Given the description of an element on the screen output the (x, y) to click on. 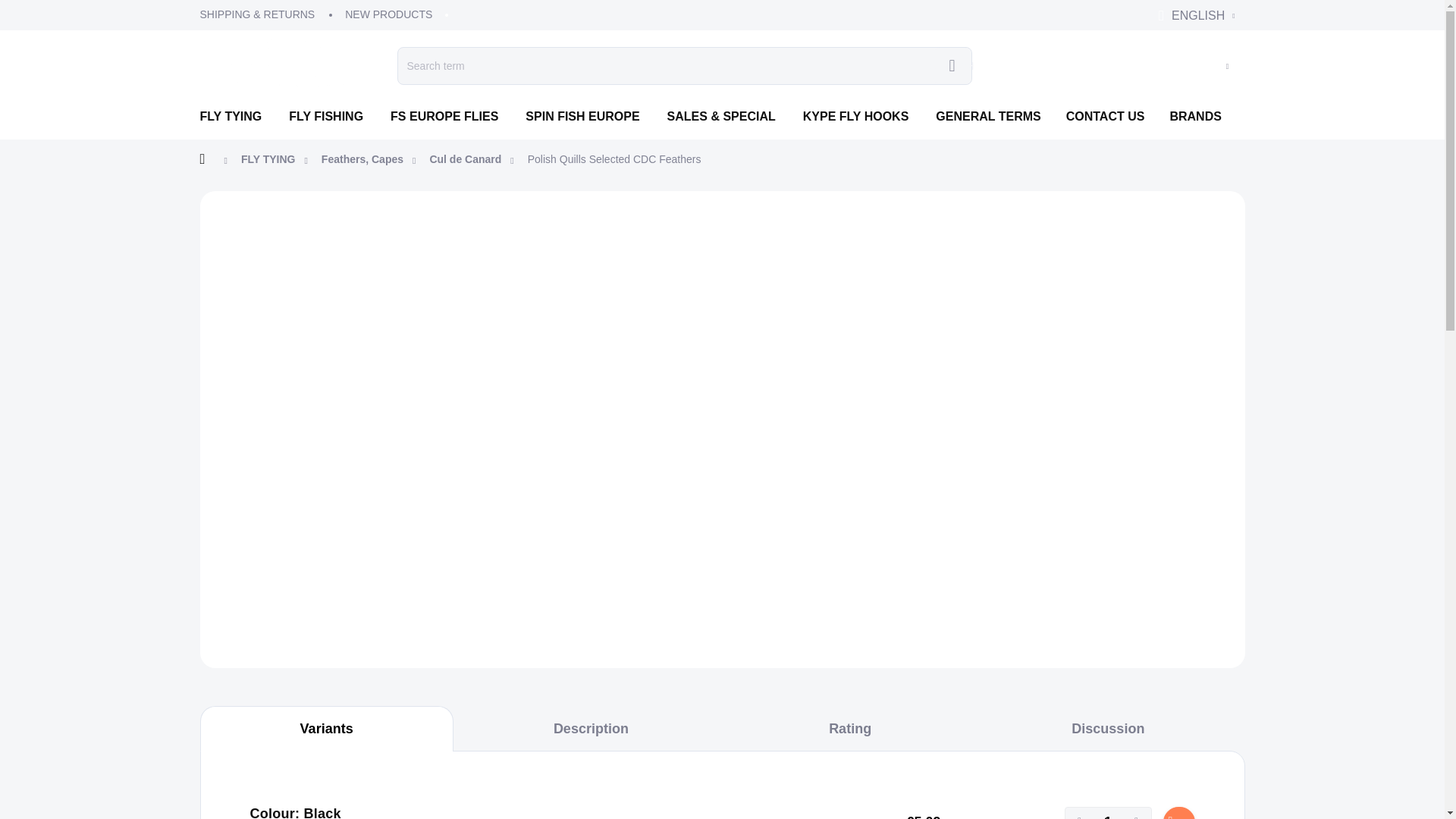
FLY TYING (238, 116)
SEARCH (952, 65)
1 (1107, 812)
NEW PRODUCTS (388, 14)
